Given the description of an element on the screen output the (x, y) to click on. 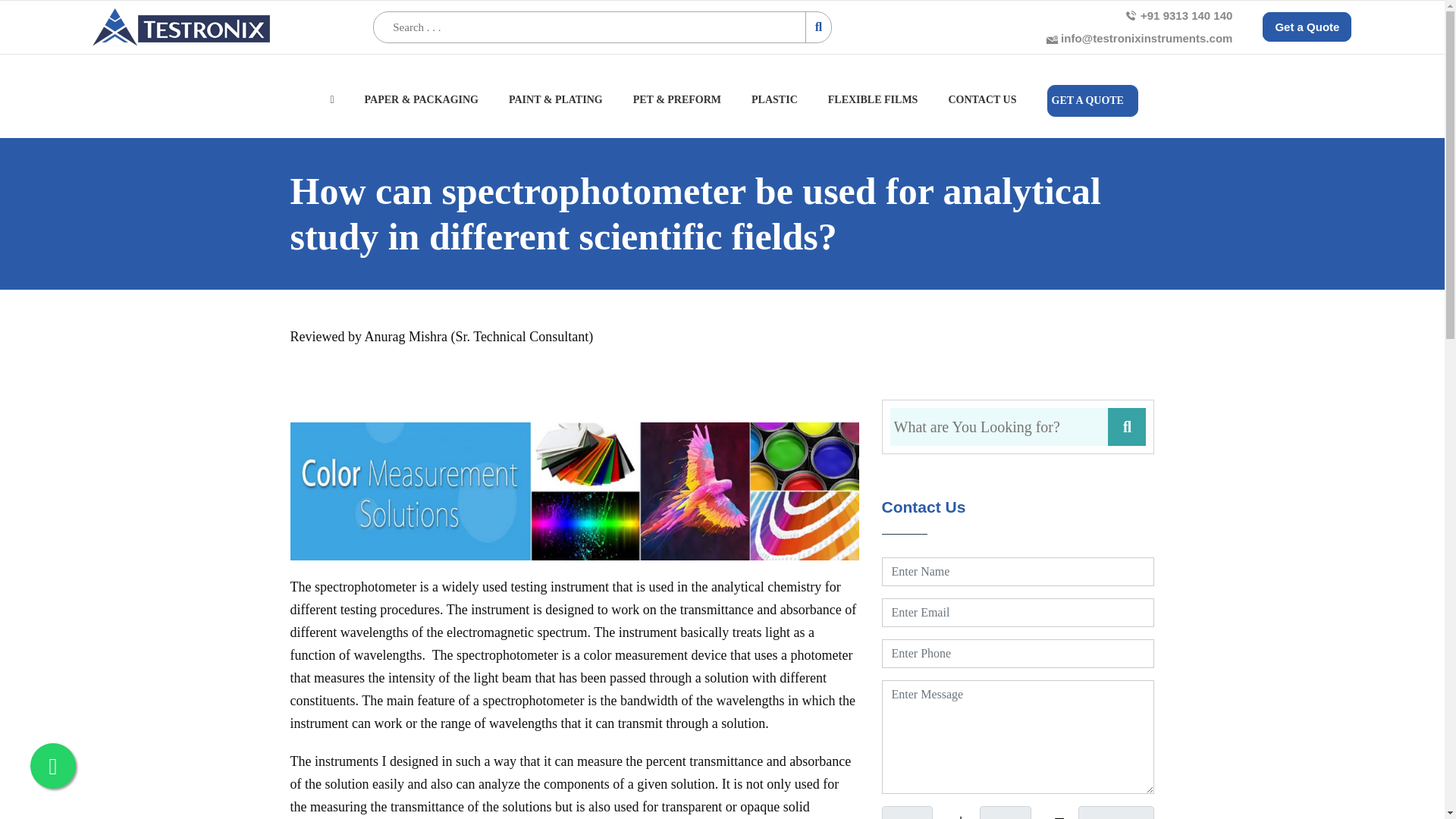
FLEXIBLE FILMS (870, 107)
GET A QUOTE (1090, 101)
8 (1004, 812)
Get a Quote (1306, 26)
PLASTIC (771, 107)
CONTACT US (980, 107)
7 (905, 812)
